Given the description of an element on the screen output the (x, y) to click on. 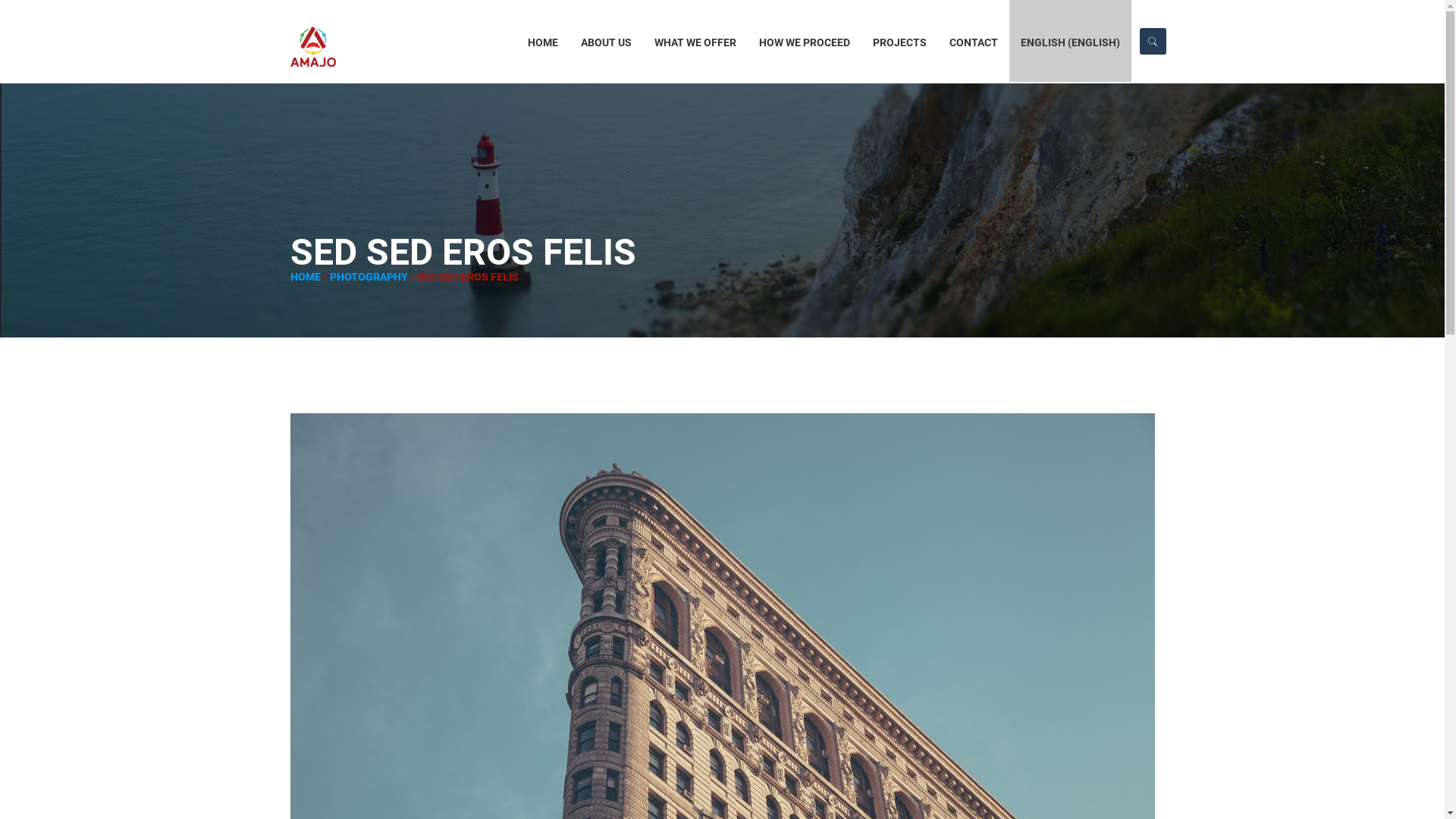
ABOUT US Element type: text (606, 40)
WHAT WE OFFER Element type: text (695, 40)
PROJECTS Element type: text (899, 40)
ENGLISH (ENGLISH) Element type: text (1070, 40)
HOME Element type: text (304, 276)
PHOTOGRAPHY Element type: text (368, 276)
CONTACT Element type: text (973, 40)
HOME Element type: text (542, 40)
search Element type: text (1084, 20)
HOW WE PROCEED Element type: text (804, 40)
